Given the description of an element on the screen output the (x, y) to click on. 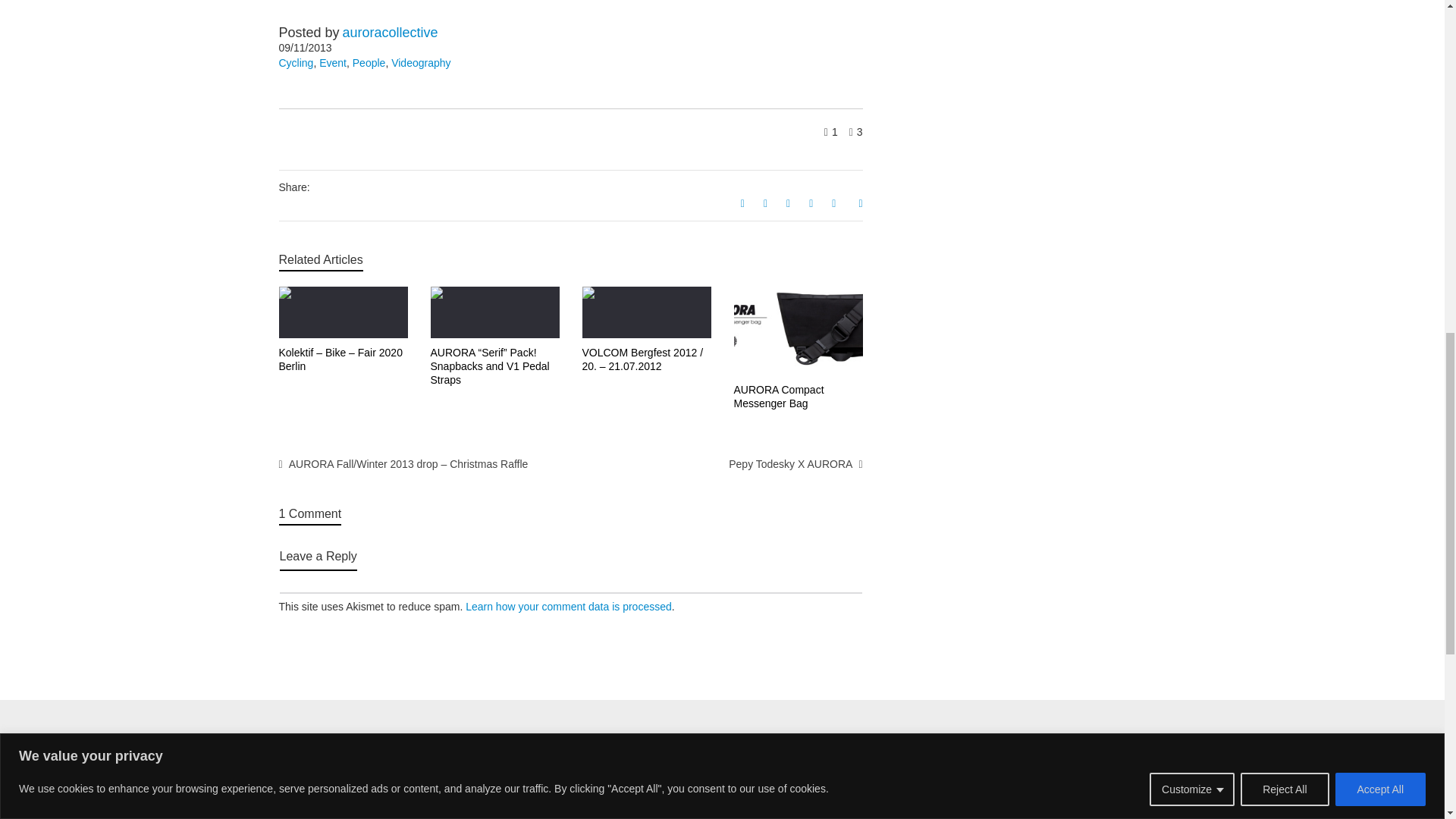
Permanent Link to AURORA Compact Messenger Bag (778, 396)
